Given the description of an element on the screen output the (x, y) to click on. 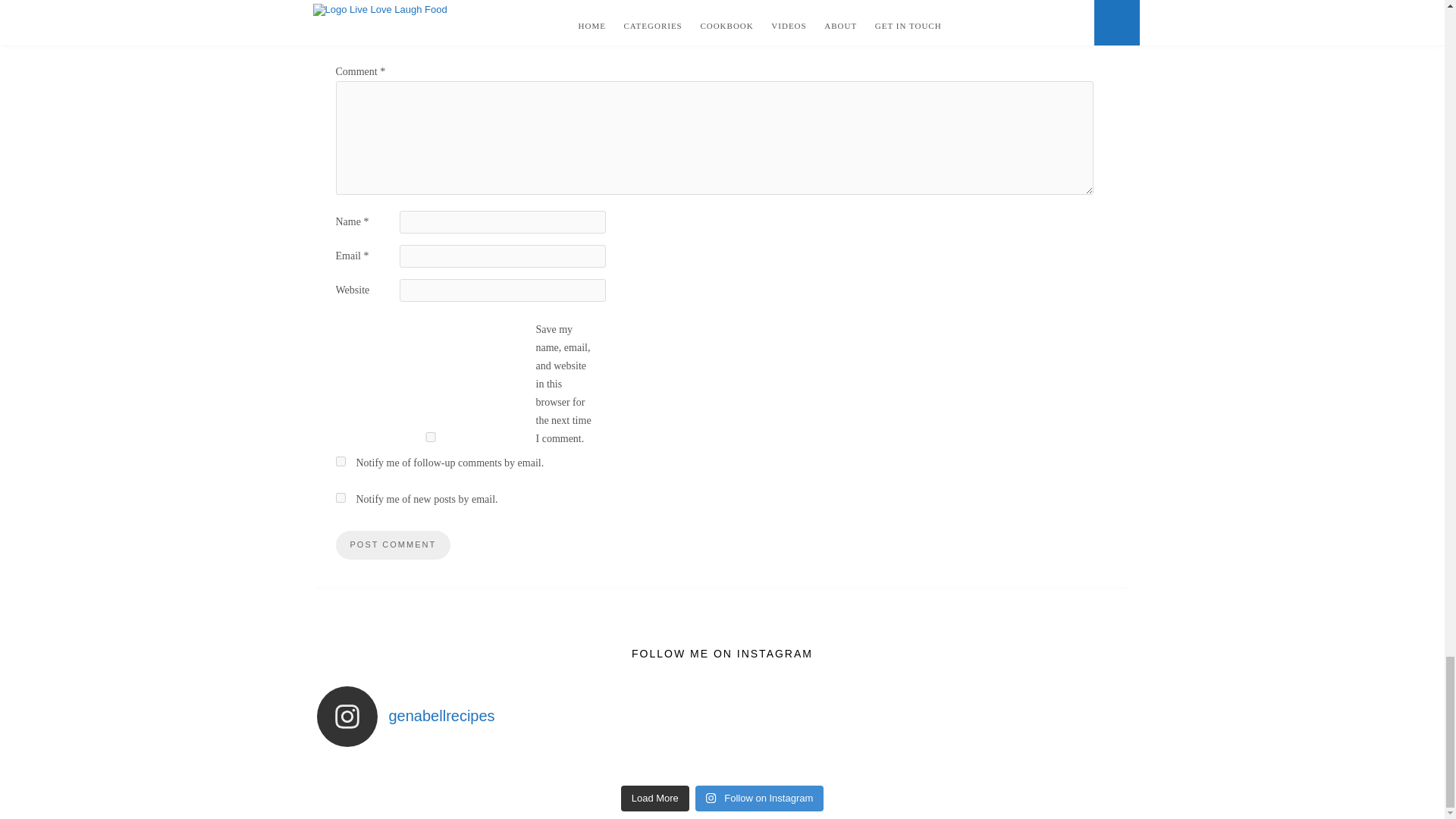
yes (429, 437)
Post Comment (391, 544)
subscribe (339, 497)
subscribe (339, 461)
